Given the description of an element on the screen output the (x, y) to click on. 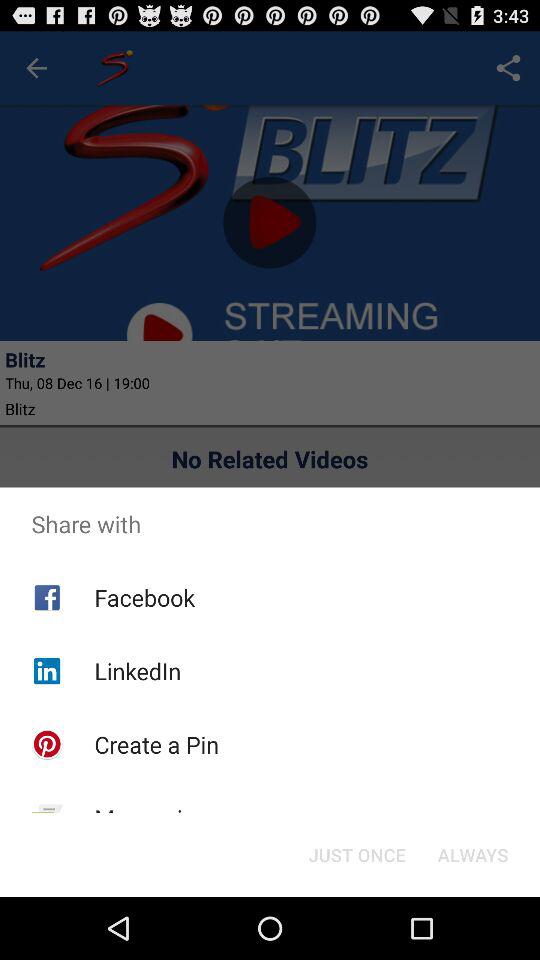
press the just once button (356, 854)
